Given the description of an element on the screen output the (x, y) to click on. 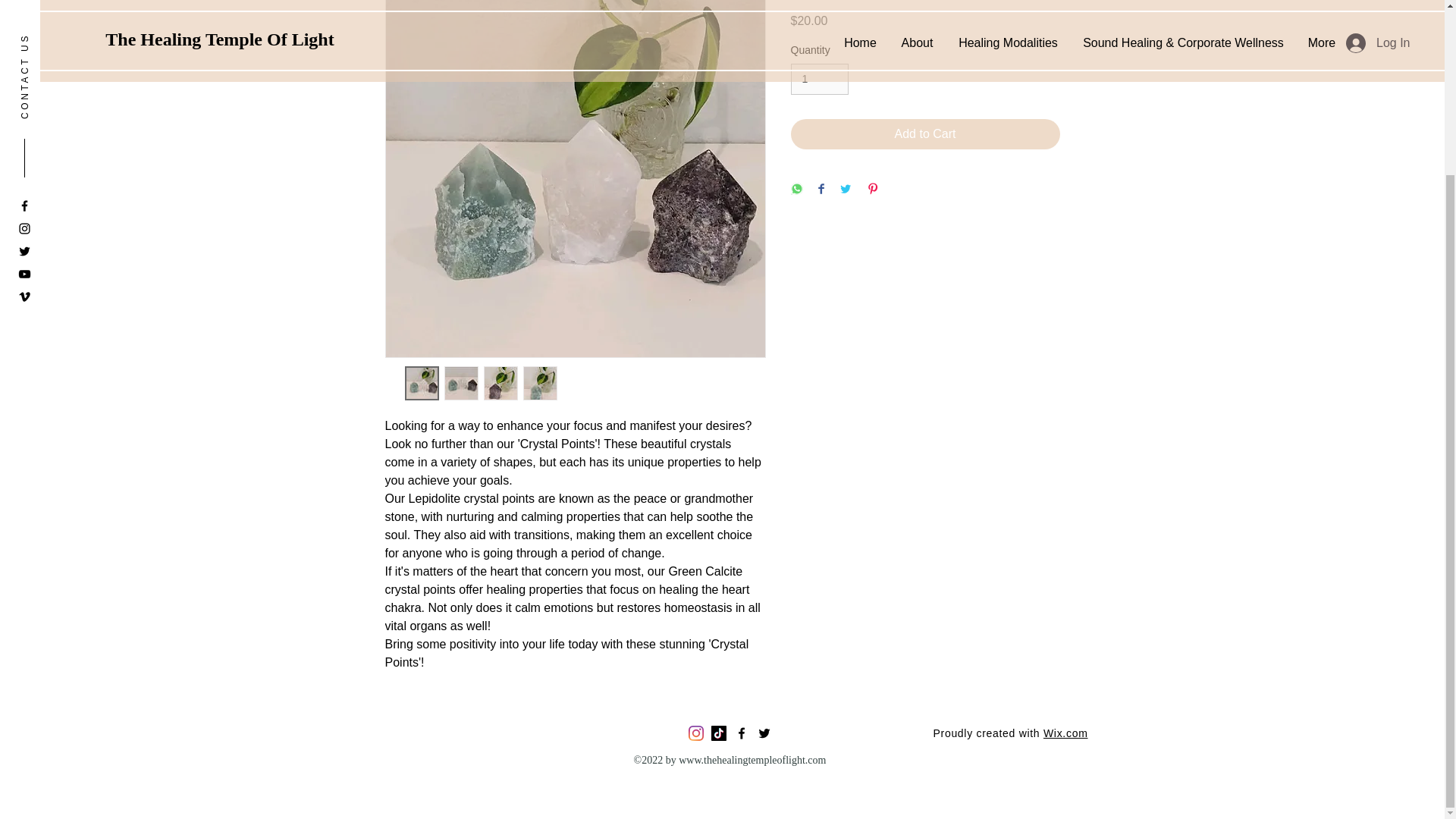
Add to Cart (924, 133)
1 (818, 79)
www.thehealingtempleoflight.com (751, 759)
Wix.com (1065, 733)
